Given the description of an element on the screen output the (x, y) to click on. 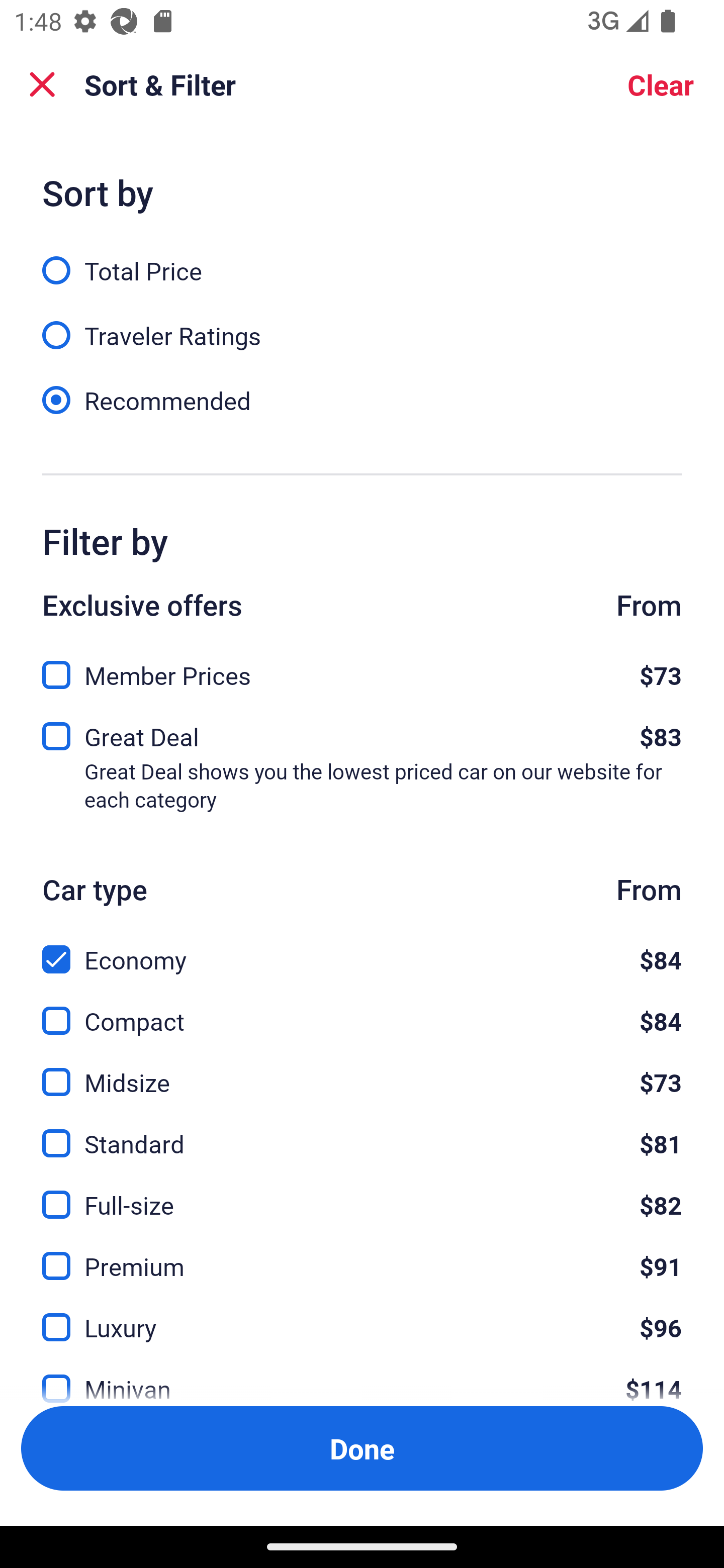
Close Sort and Filter (42, 84)
Clear (660, 84)
Total Price (361, 259)
Traveler Ratings (361, 324)
Member Prices, $73 Member Prices $73 (361, 669)
Economy, $84 Economy $84 (361, 947)
Compact, $84 Compact $84 (361, 1008)
Midsize, $73 Midsize $73 (361, 1070)
Standard, $81 Standard $81 (361, 1132)
Full-size, $82 Full-size $82 (361, 1193)
Premium, $91 Premium $91 (361, 1254)
Luxury, $96 Luxury $96 (361, 1315)
Minivan, $114 Minivan $114 (361, 1376)
Apply and close Sort and Filter Done (361, 1448)
